Given the description of an element on the screen output the (x, y) to click on. 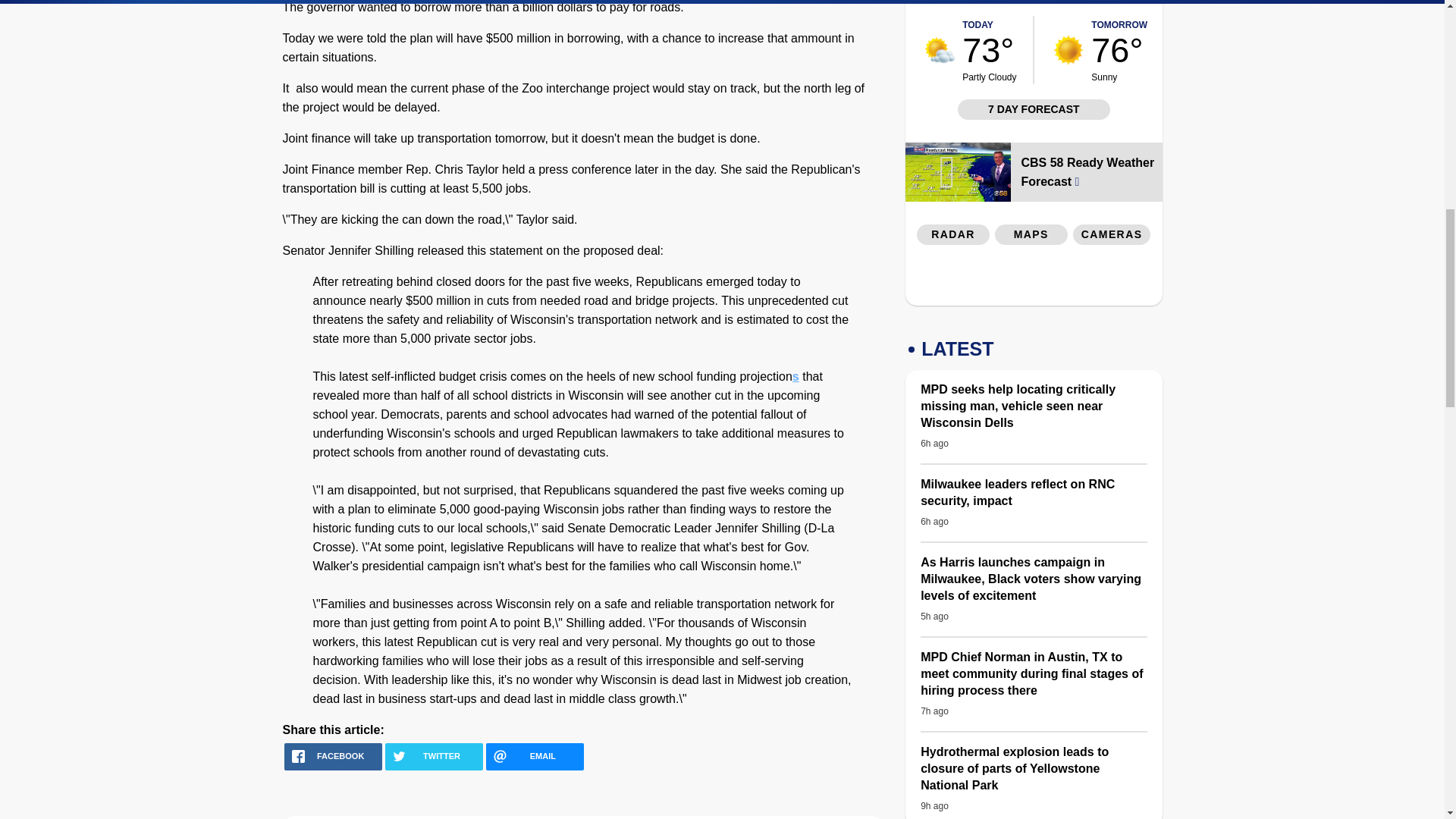
weather (1067, 50)
3rd party ad content (1112, 4)
weather (939, 50)
3rd party ad content (1034, 279)
